Given the description of an element on the screen output the (x, y) to click on. 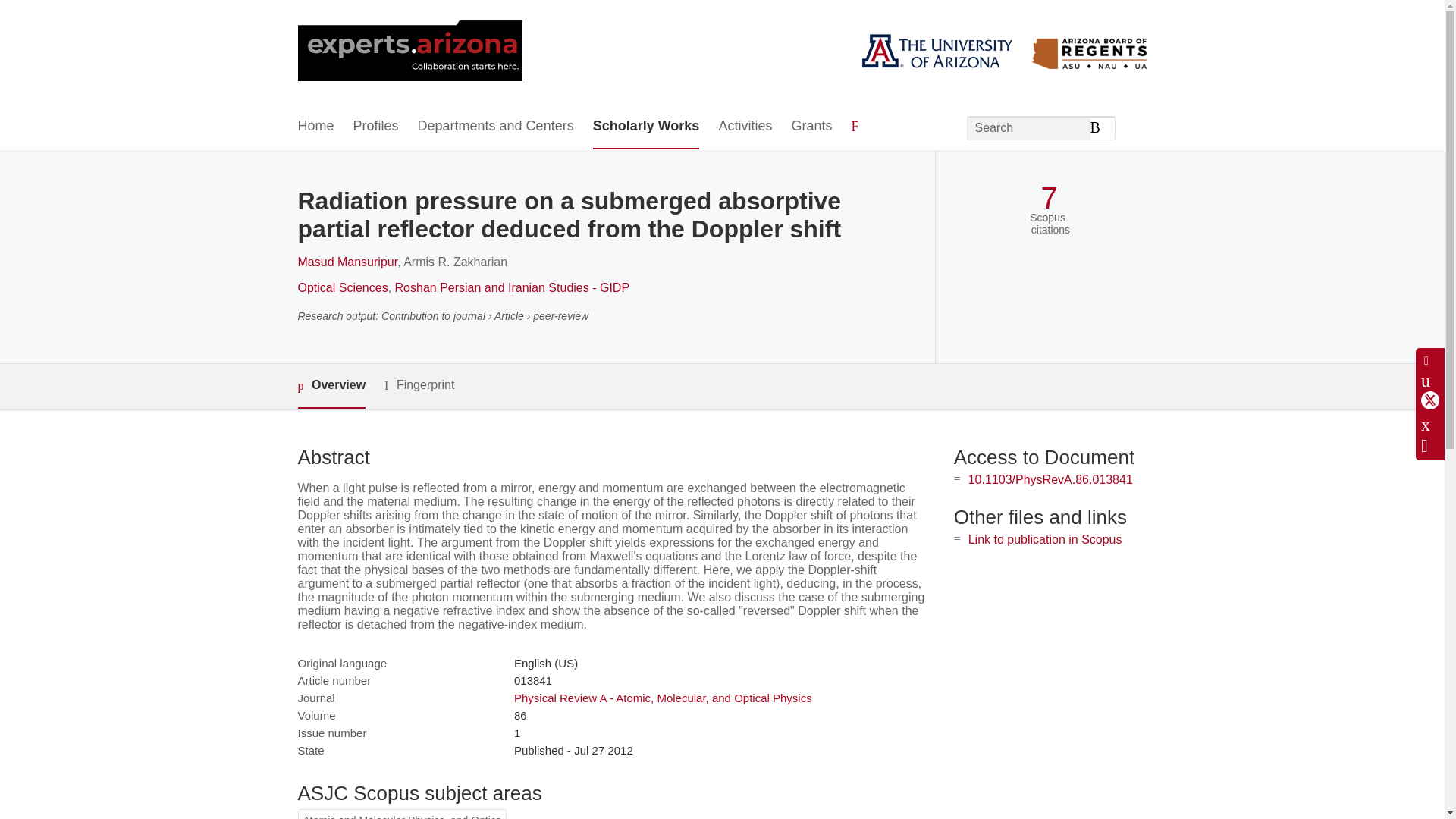
Overview (331, 385)
Scholarly Works (646, 126)
Activities (744, 126)
Fingerprint (419, 385)
Roshan Persian and Iranian Studies - GIDP (512, 287)
University of Arizona Home (409, 52)
Departments and Centers (495, 126)
Profiles (375, 126)
Grants (810, 126)
